Given the description of an element on the screen output the (x, y) to click on. 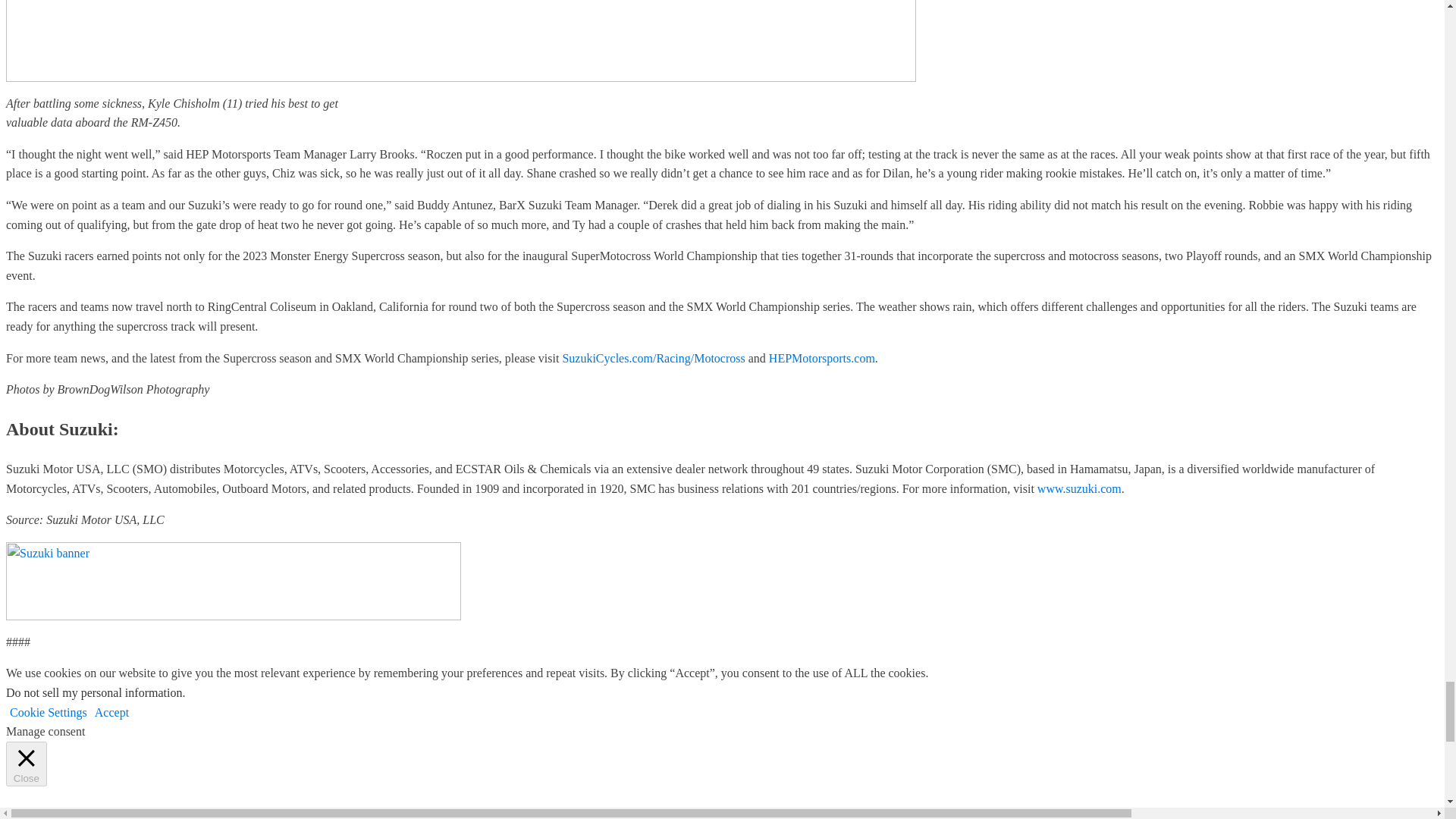
Do not sell my personal information (93, 692)
Close (25, 764)
HEPMotorsports.com (821, 358)
Cookie Settings (48, 712)
Accept (111, 712)
www.suzuki.com (1078, 488)
